Given the description of an element on the screen output the (x, y) to click on. 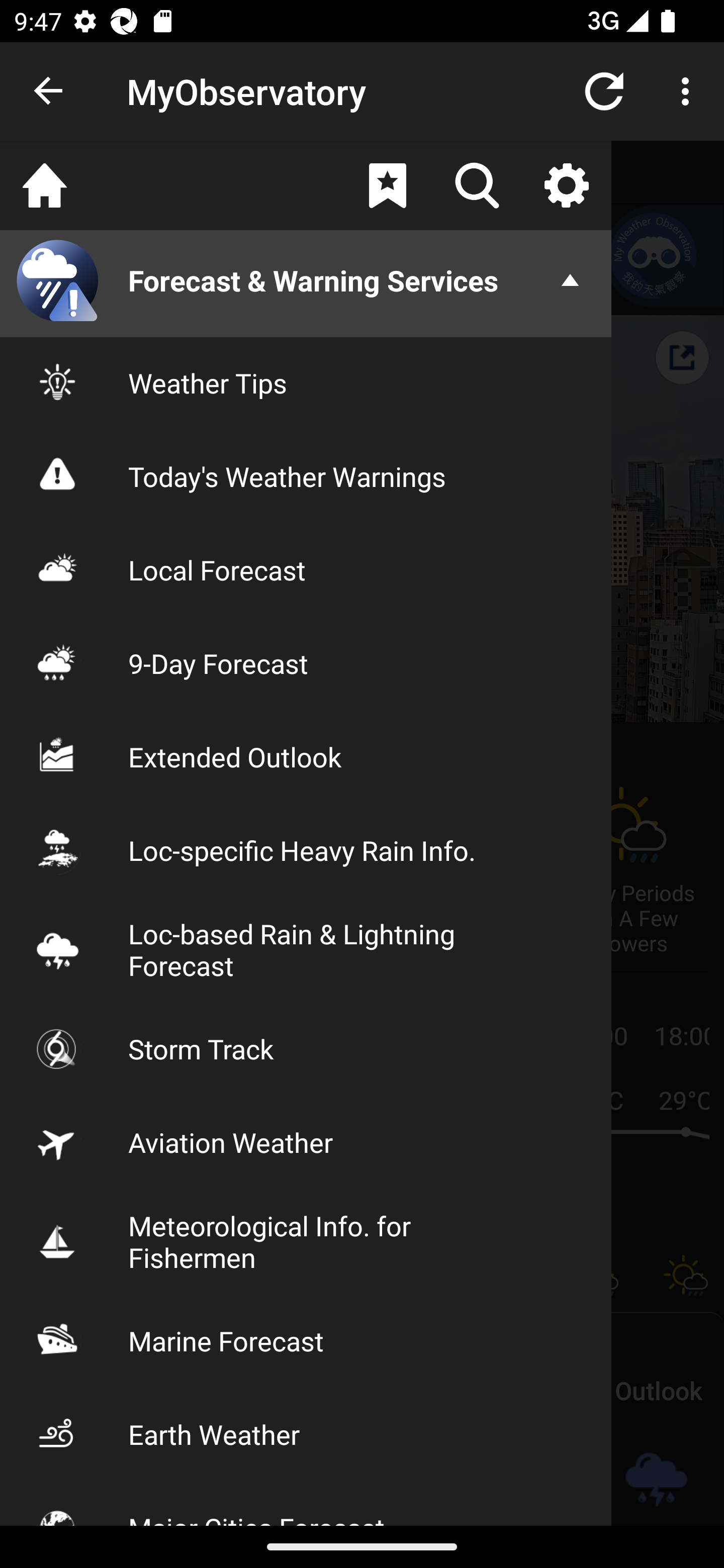
Navigate up (49, 91)
Refresh (604, 90)
More options (688, 90)
Homepage (44, 185)
Bookmark Manager (387, 185)
Search Unselected (477, 185)
Settings (566, 185)
Weather Tips (305, 382)
Today's Weather Warnings (305, 475)
Local Forecast (305, 569)
9-Day Forecast (305, 662)
Extended Outlook (305, 756)
Loc-specific Heavy Rain Info. (305, 850)
Loc-based Rain & Lightning Forecast (305, 949)
Storm Track (305, 1048)
Aviation Weather (305, 1142)
Meteorological Info. for Fishermen (305, 1241)
Marine Forecast (305, 1340)
Earth Weather (305, 1433)
